Given the description of an element on the screen output the (x, y) to click on. 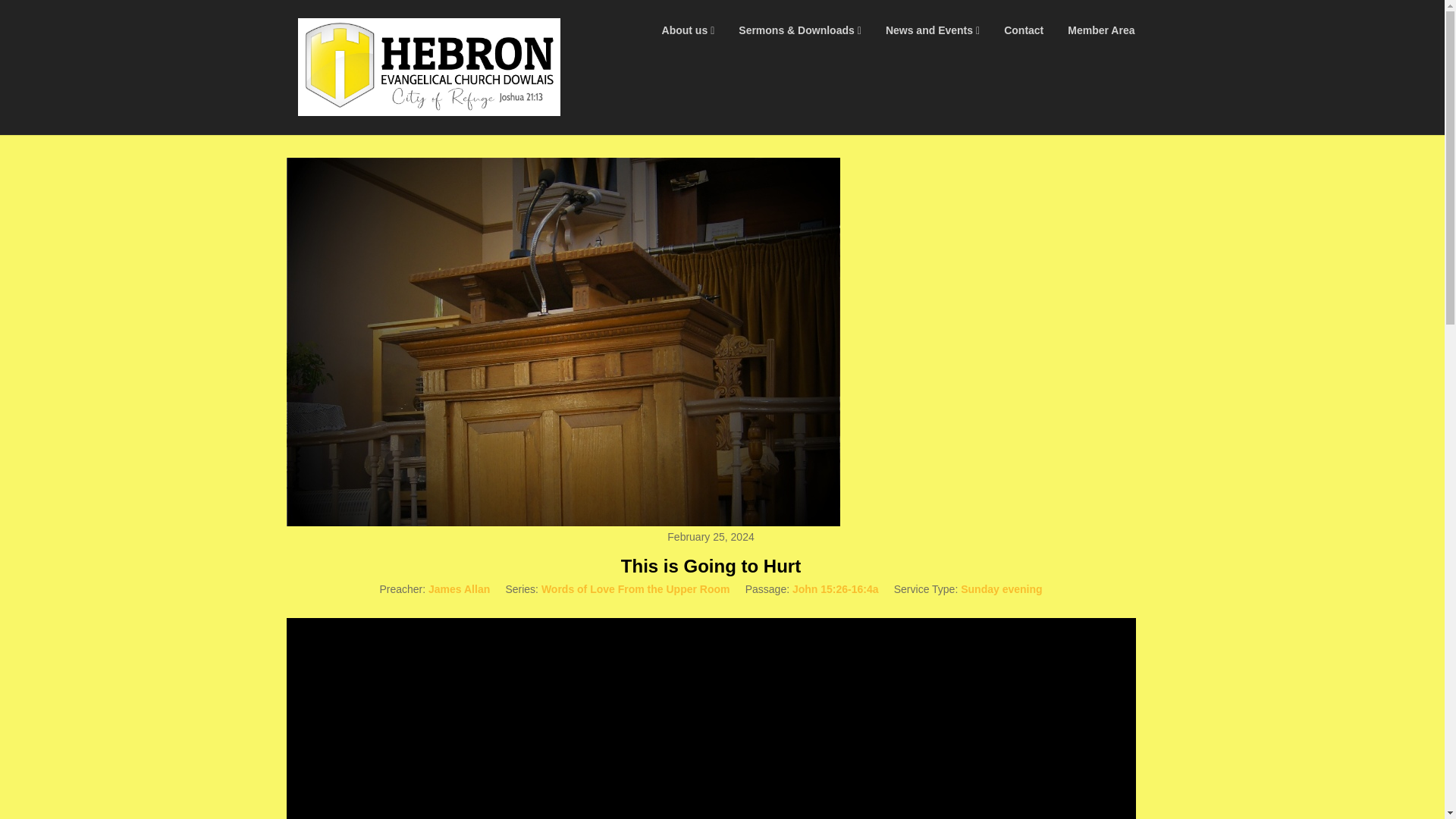
News and Events (932, 30)
About us (687, 30)
Sunday evening (1001, 589)
John 15:26-16:4a (835, 589)
James Allan (458, 589)
Member Area (1101, 30)
Words of Love From the Upper Room (635, 589)
Contact (1023, 30)
